Given the description of an element on the screen output the (x, y) to click on. 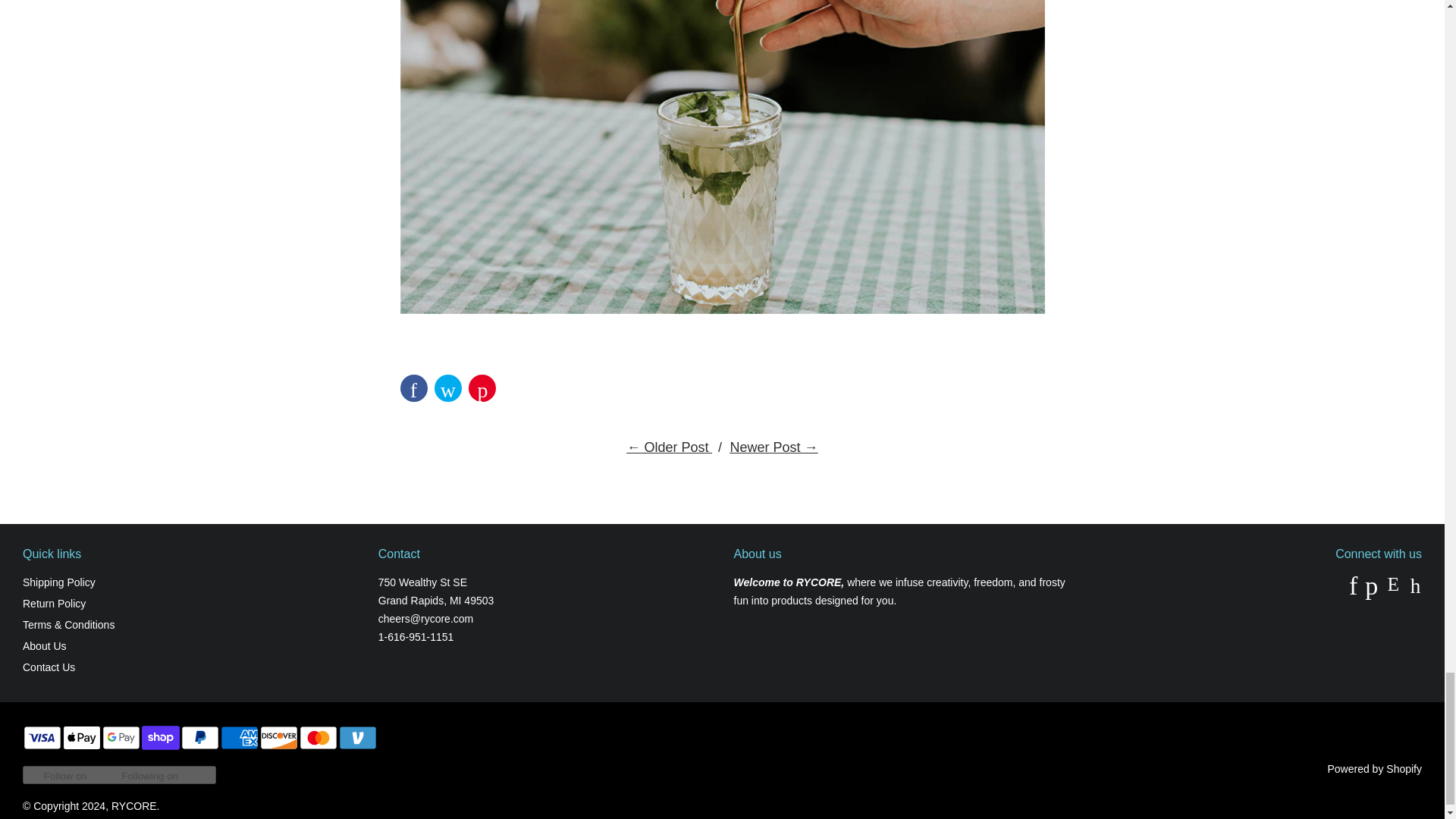
Share on Facebook (414, 388)
Share on Twitter (447, 388)
Share on Pinterest (482, 388)
